Given the description of an element on the screen output the (x, y) to click on. 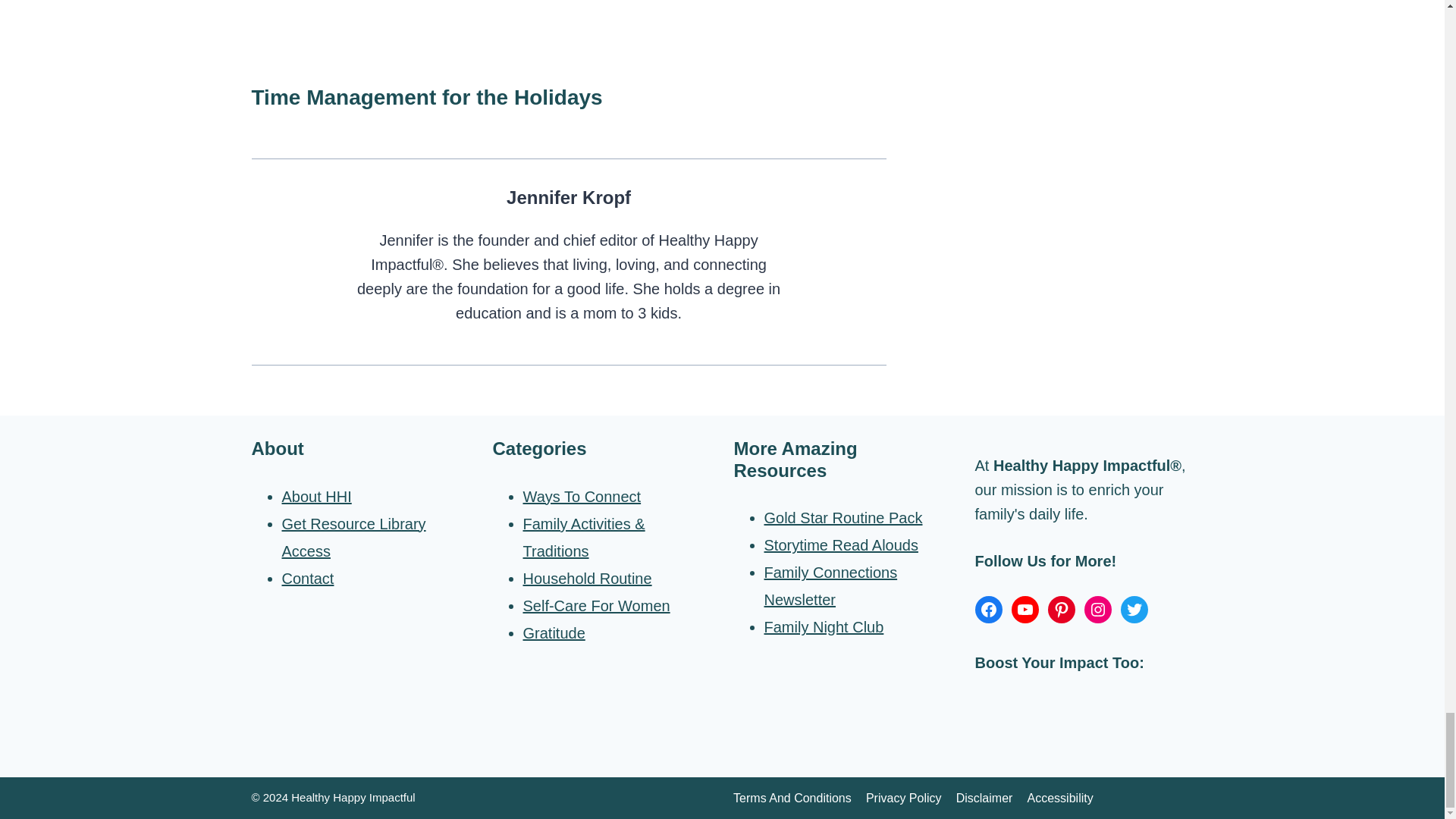
Posts by Jennifer Kropf (568, 197)
